Given the description of an element on the screen output the (x, y) to click on. 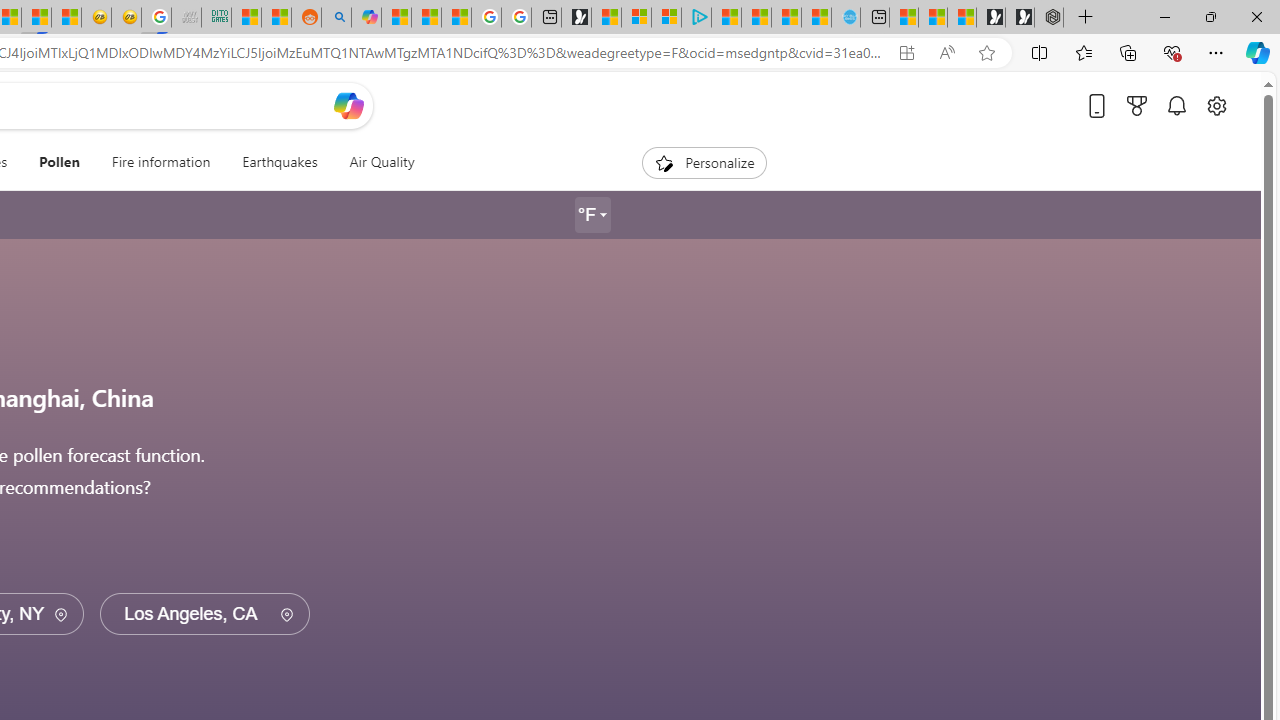
Fire information (160, 162)
Microsoft Copilot in Bing (366, 17)
Earthquakes (279, 162)
